Given the description of an element on the screen output the (x, y) to click on. 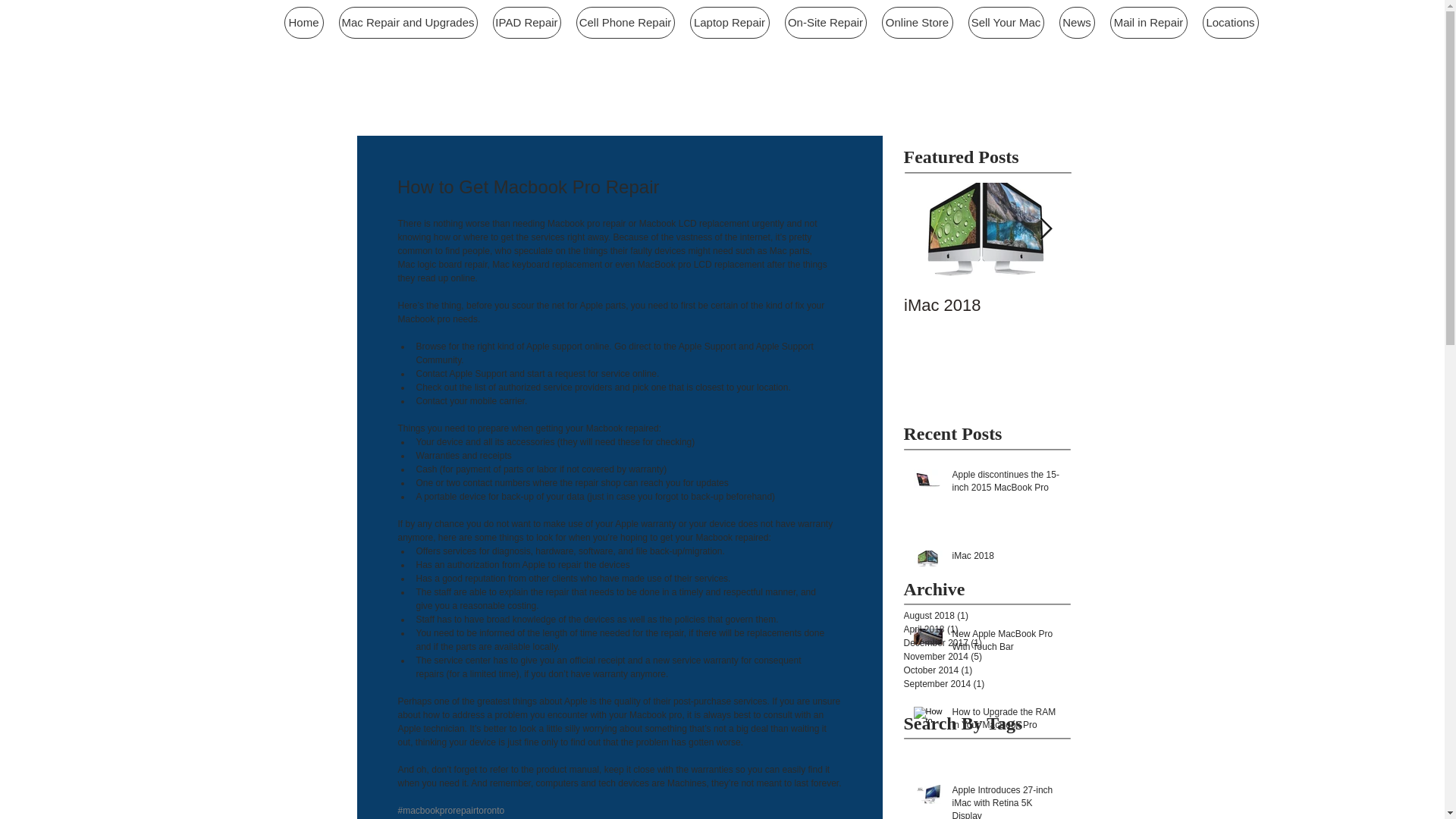
Apple discontinues the 15-inch 2015 MacBook Pro (1006, 484)
Mac Repair and Upgrades (407, 22)
New Apple MacBook Pro With Touch Bar (1006, 644)
Home (303, 22)
iMac 2018 (1006, 558)
iMac 2018 (987, 305)
New Apple MacBook Pro With Touch Bar (1153, 314)
2011 Mac Graphics Card Failure (1321, 314)
How to Upgrade the RAM in Your MacBook Pro (1006, 721)
Apple Introduces 27-inch iMac with Retina 5K Display (1006, 801)
